Given the description of an element on the screen output the (x, y) to click on. 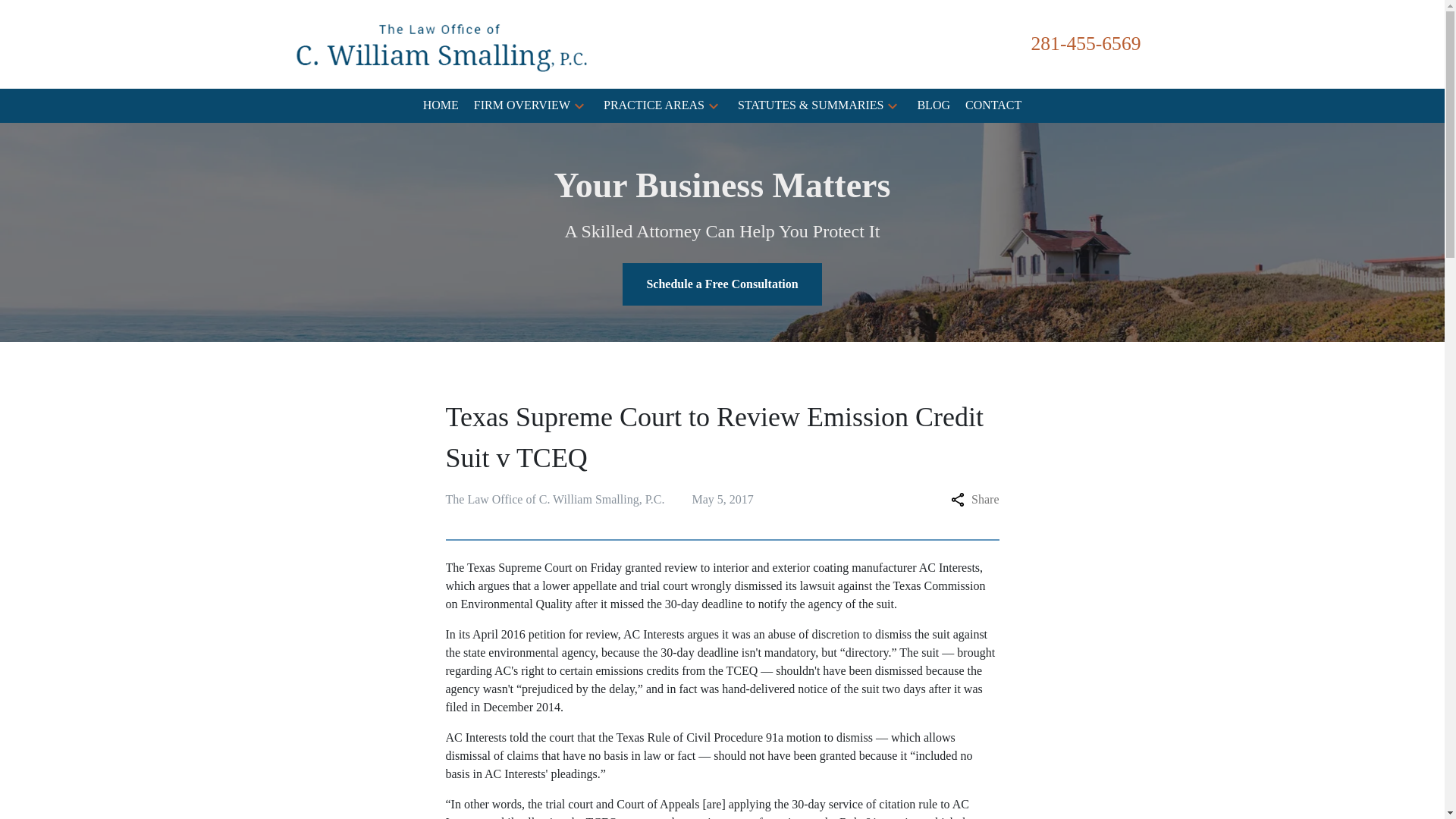
HOME (440, 105)
Share (974, 499)
BLOG (933, 105)
Schedule a Free Consultation (722, 283)
CONTACT (993, 105)
FIRM OVERVIEW (522, 105)
PRACTICE AREAS (654, 105)
281-455-6569 (1085, 43)
